Given the description of an element on the screen output the (x, y) to click on. 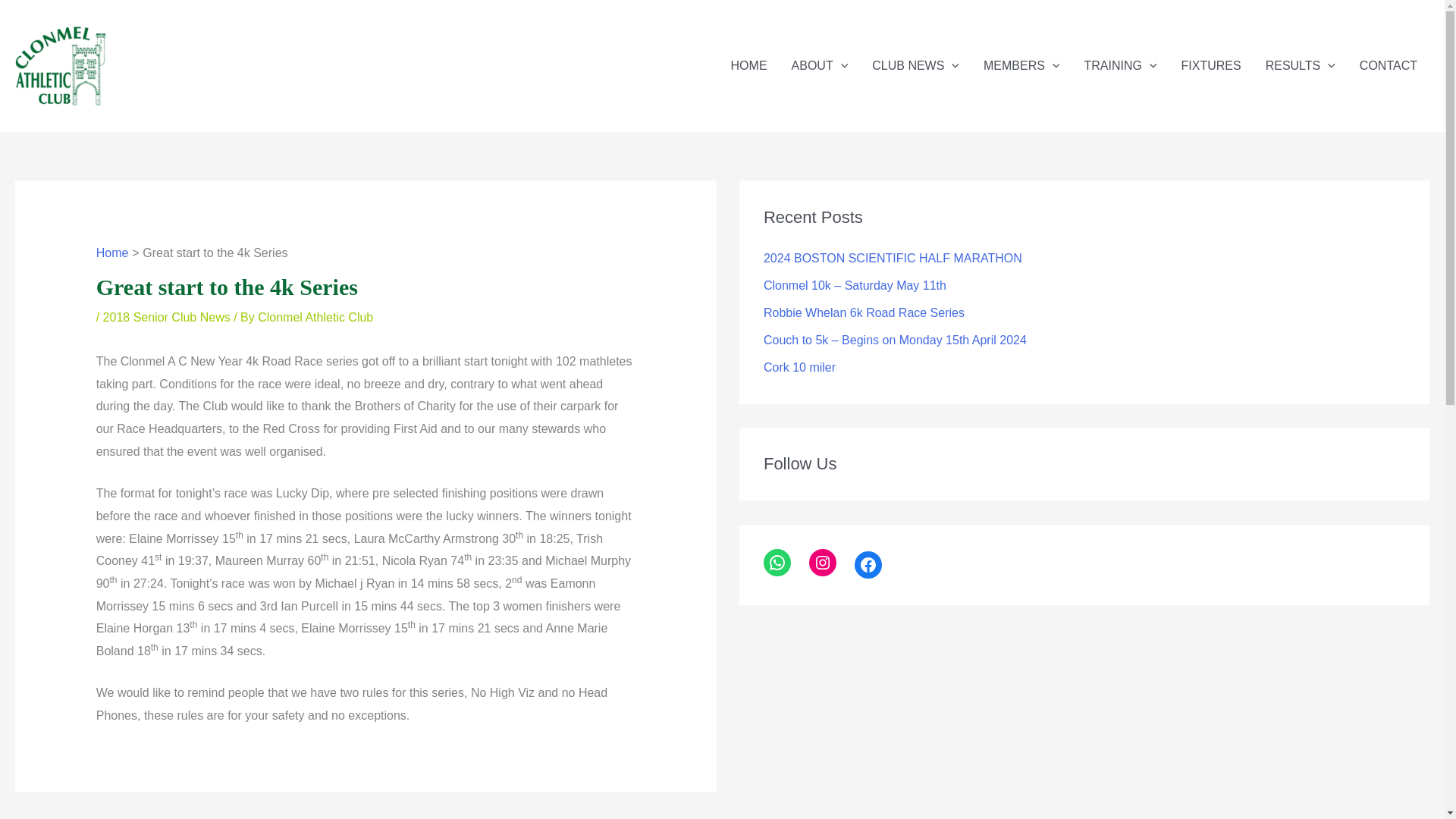
ABOUT (819, 65)
RESULTS (1300, 65)
Great performances at Munster Juvenile Penthatlon (119, 818)
CONTACT (1388, 65)
HOME (748, 65)
CLUB NEWS (915, 65)
FIXTURES (1211, 65)
View all posts by Clonmel Athletic Club (314, 317)
MEMBERS (1021, 65)
TRAINING (1120, 65)
